Given the description of an element on the screen output the (x, y) to click on. 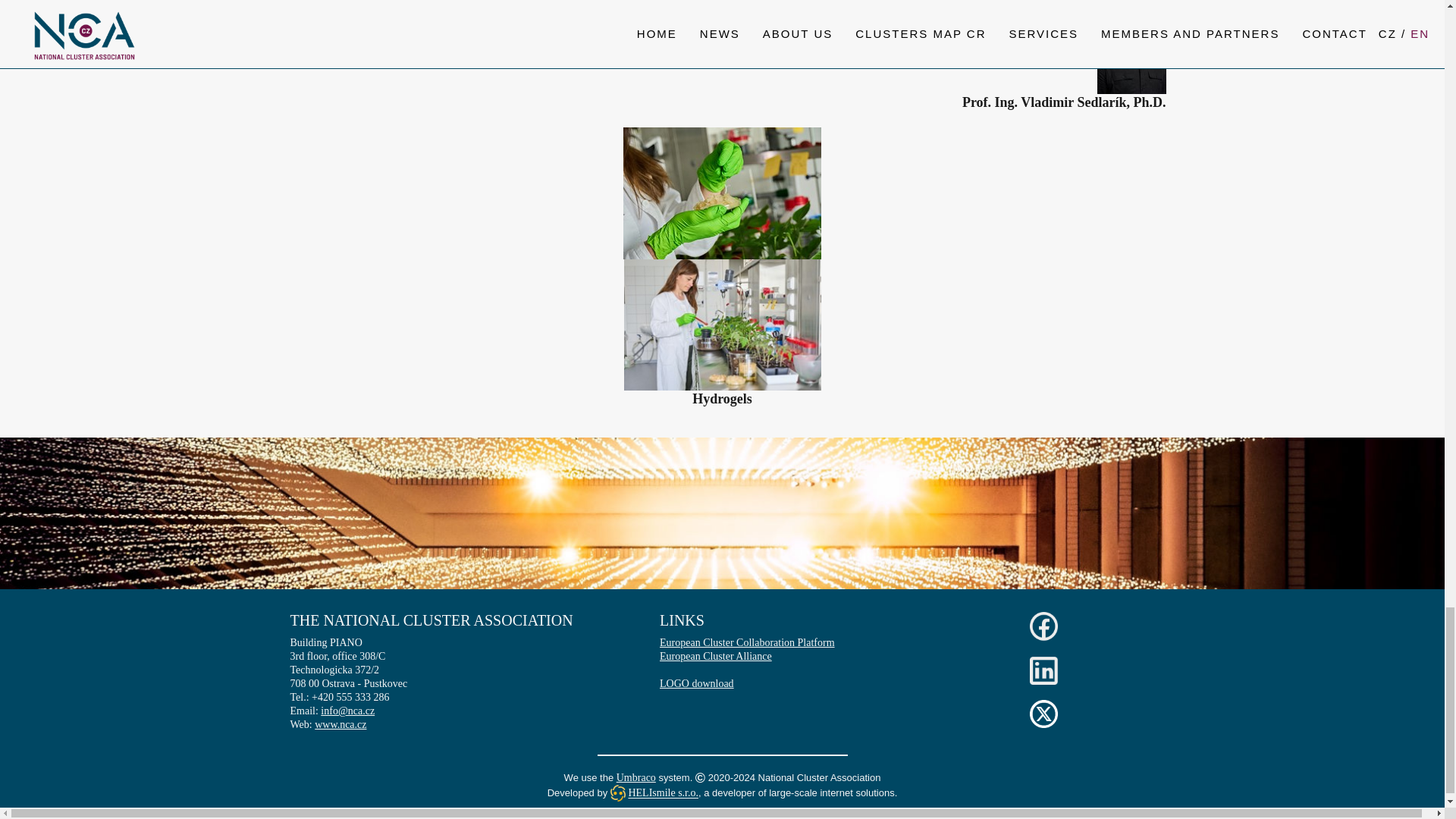
HELIsmile s.r.o. (662, 793)
European Cluster Collaboration Platform (746, 642)
Nca Logo 2020 EN Rgb (696, 683)
LOGO download (696, 683)
European Cluster Alliance (715, 655)
Email (347, 710)
Umbraco (635, 777)
nca (340, 724)
www.nca.cz (340, 724)
